Given the description of an element on the screen output the (x, y) to click on. 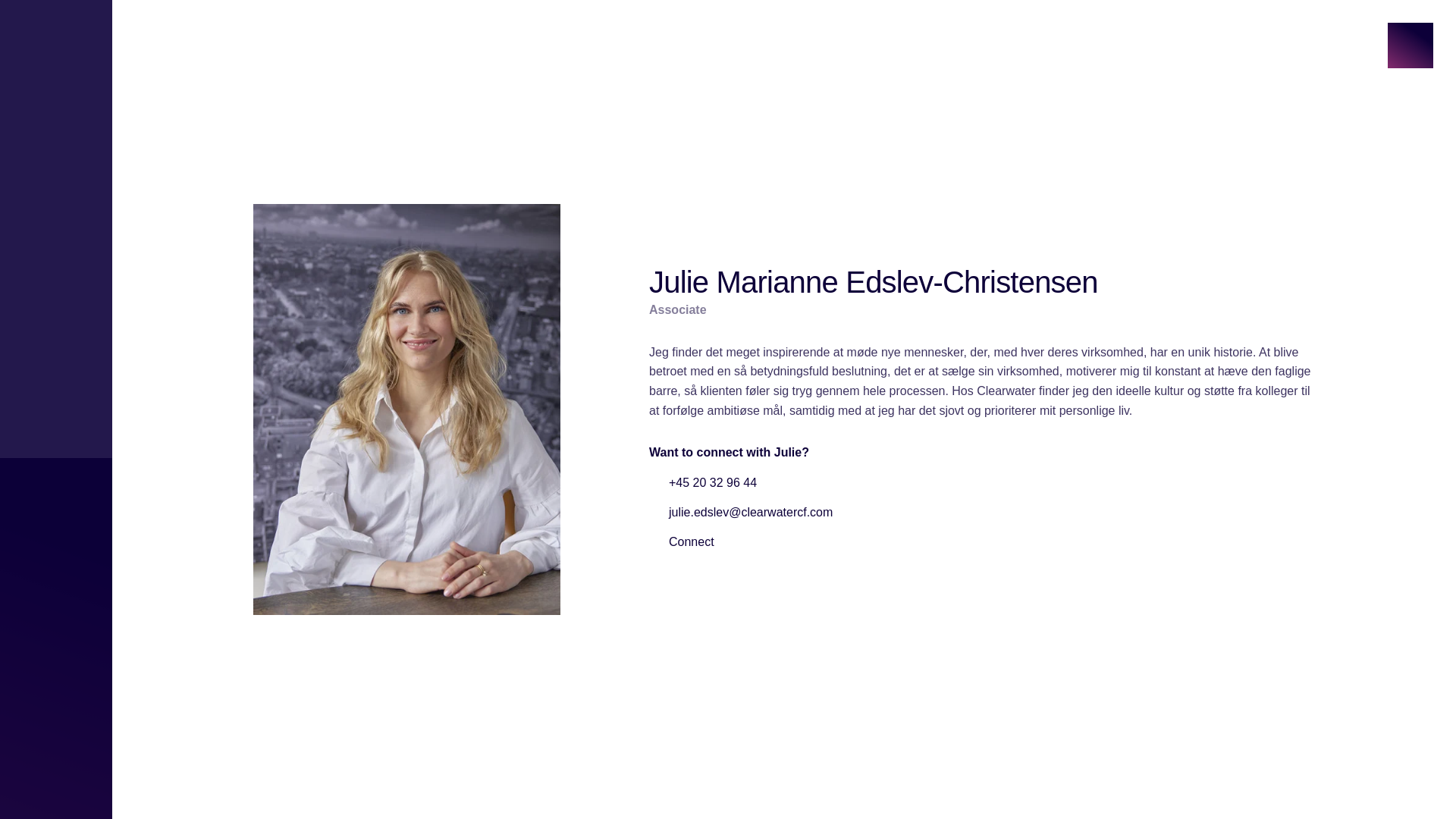
Experience (1035, 38)
Close team member dialog (1409, 44)
Clearwater (279, 35)
Clearwater (299, 778)
